Given the description of an element on the screen output the (x, y) to click on. 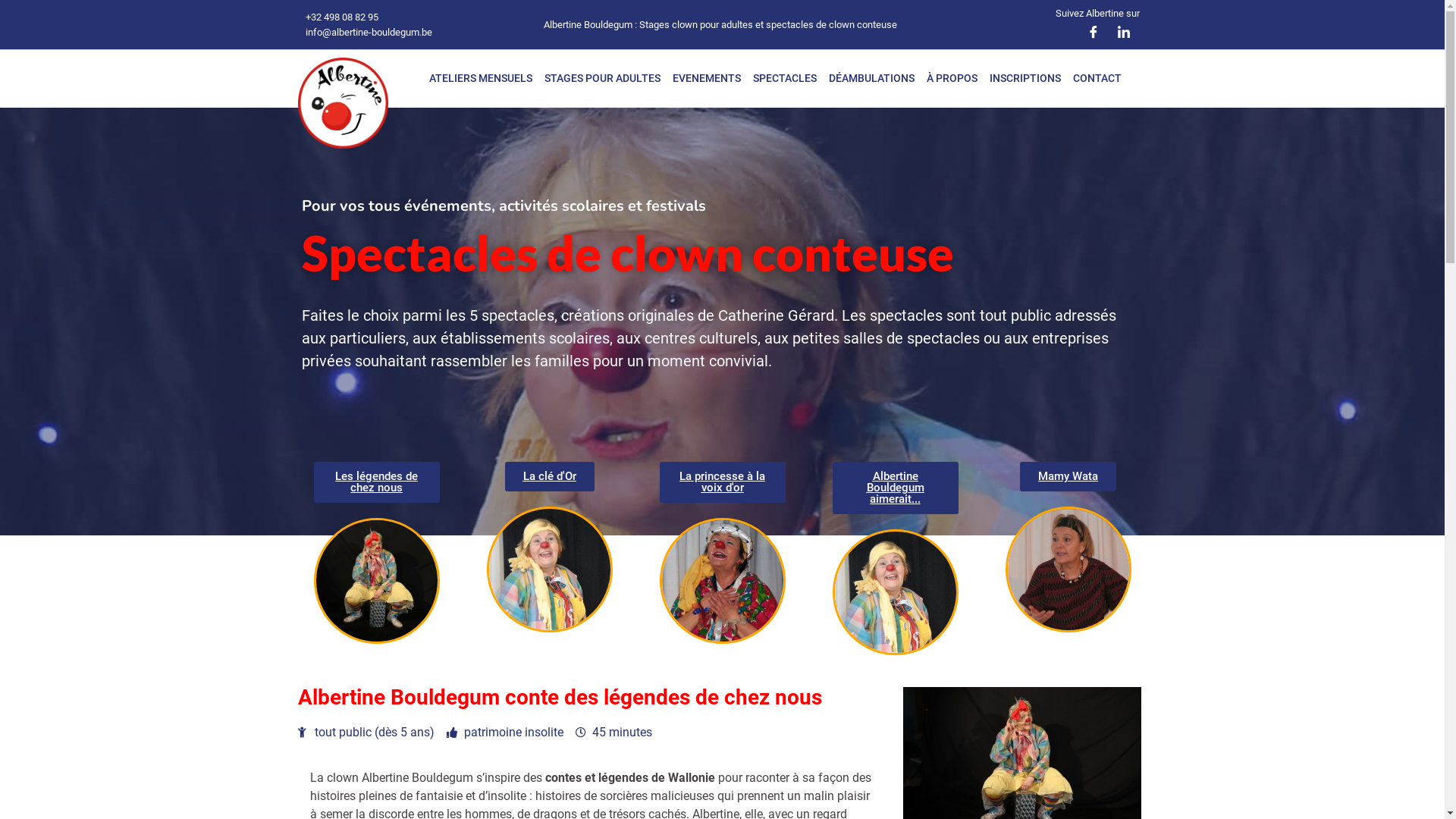
Mamy Wata Element type: text (1067, 476)
Albertine Bouldegum aimerait... Element type: text (895, 487)
info@albertine-bouldegum.be Element type: text (366, 32)
ATELIERS MENSUELS Element type: text (480, 78)
STAGES POUR ADULTES Element type: text (602, 78)
CONTACT Element type: text (1097, 78)
INSCRIPTIONS Element type: text (1024, 78)
+32 498 08 82 95 Element type: text (339, 16)
SPECTACLES Element type: text (784, 78)
EVENEMENTS Element type: text (706, 78)
